Given the description of an element on the screen output the (x, y) to click on. 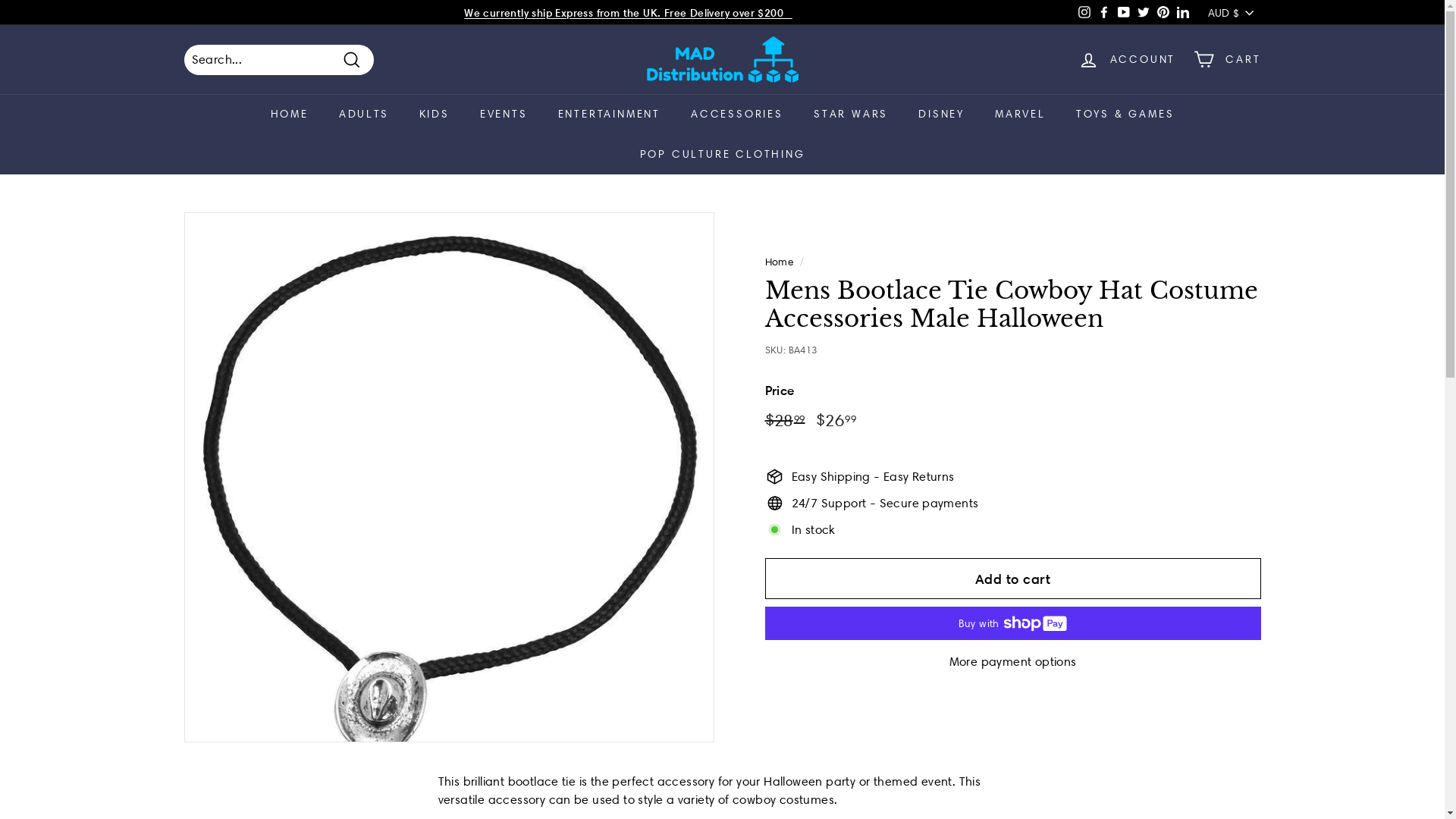
ACCOUNT Element type: text (1127, 59)
Facebook Element type: text (1103, 11)
Home Element type: text (778, 261)
AUD $ Element type: text (1234, 12)
DISNEY Element type: text (941, 114)
ACCESSORIES Element type: text (736, 114)
Twitter Element type: text (1143, 11)
EVENTS Element type: text (503, 114)
ADULTS Element type: text (363, 114)
HOME Element type: text (289, 114)
YouTube Element type: text (1123, 11)
MARVEL Element type: text (1019, 114)
Pinterest Element type: text (1163, 11)
More payment options Element type: text (1012, 661)
Instagram Element type: text (1084, 11)
KIDS Element type: text (434, 114)
LinkedIn Element type: text (1182, 11)
TOYS & GAMES Element type: text (1124, 114)
ENTERTAINMENT Element type: text (608, 114)
Skip to content Element type: text (0, 0)
STAR WARS Element type: text (850, 114)
Add to cart Element type: text (1012, 578)
POP CULTURE CLOTHING Element type: text (722, 154)
